Given the description of an element on the screen output the (x, y) to click on. 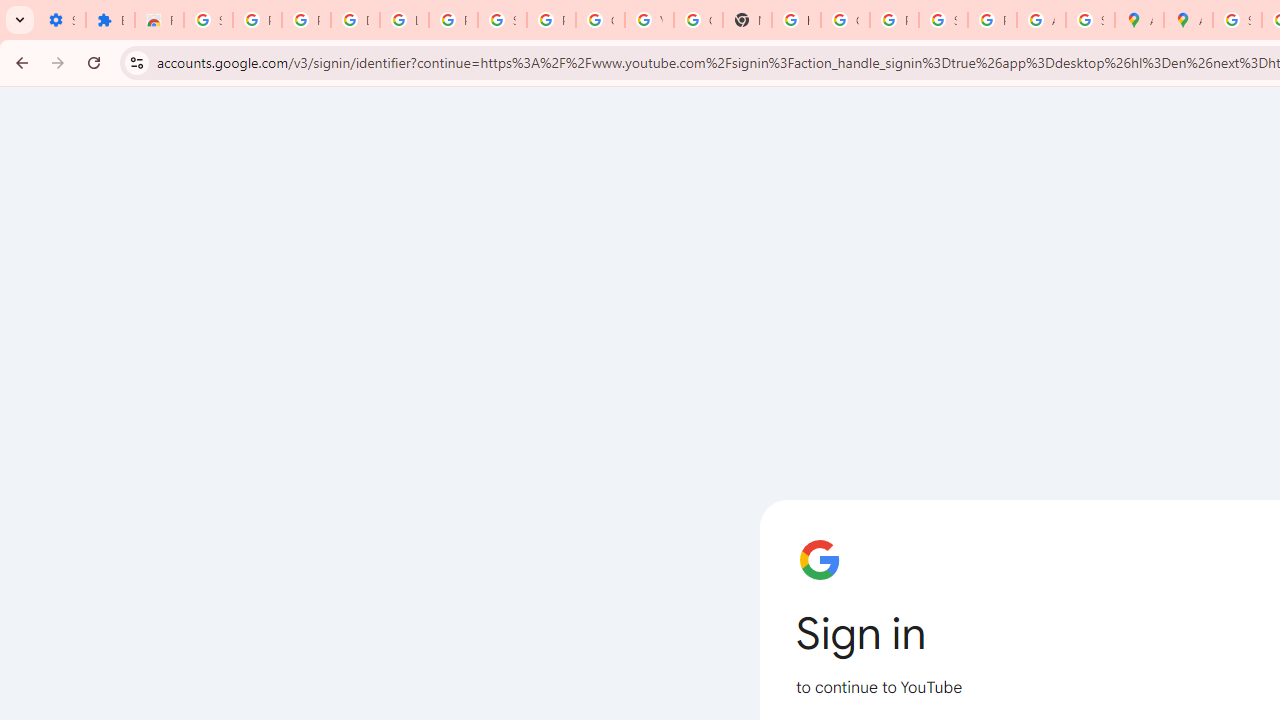
Safety in Our Products - Google Safety Center (1090, 20)
Sign in - Google Accounts (1237, 20)
Reviews: Helix Fruit Jump Arcade Game (159, 20)
https://scholar.google.com/ (795, 20)
Settings - On startup (61, 20)
Delete photos & videos - Computer - Google Photos Help (355, 20)
New Tab (747, 20)
